Given the description of an element on the screen output the (x, y) to click on. 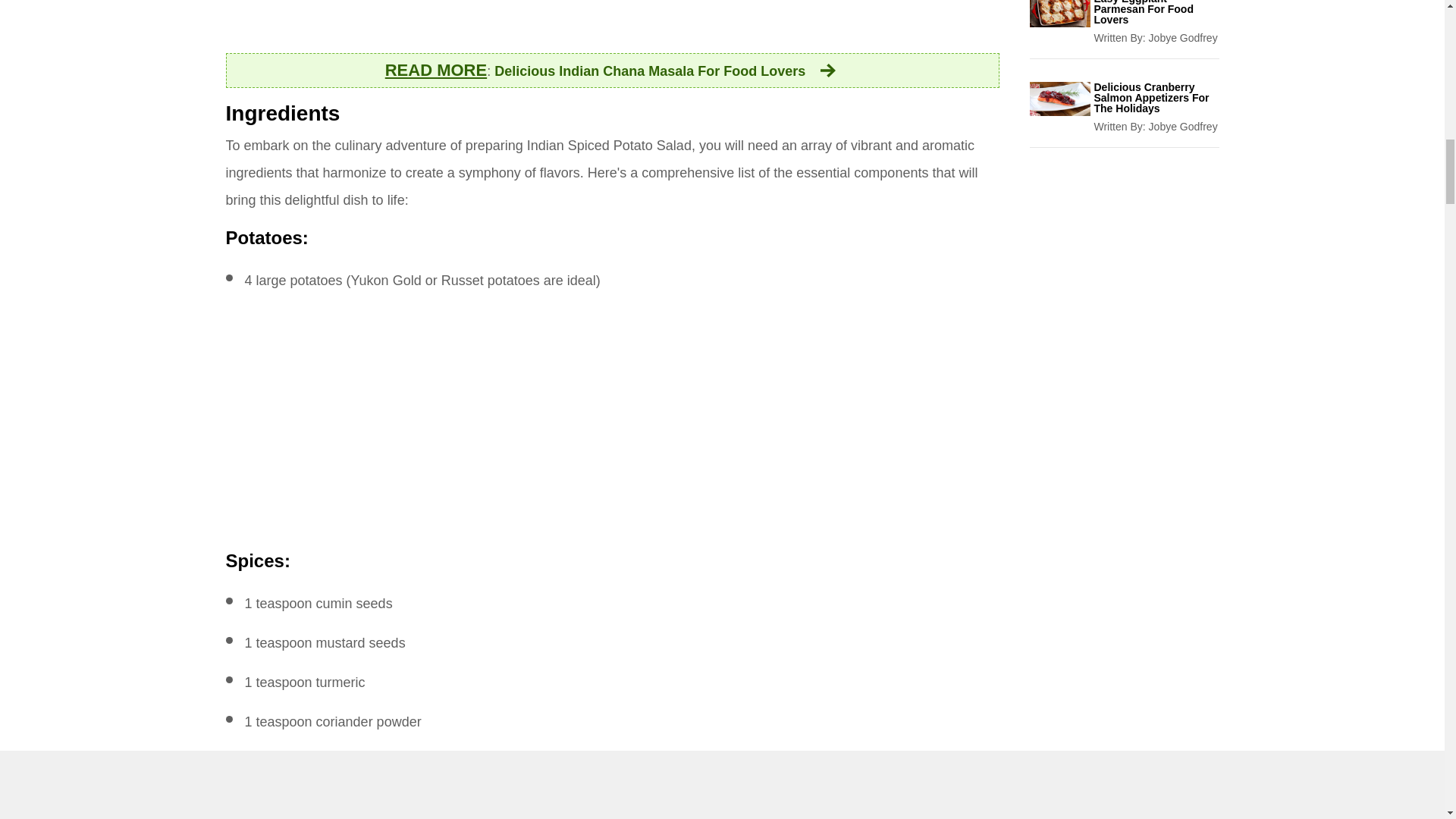
Delicious Indian Chana Masala For Food Lovers (667, 70)
